Given the description of an element on the screen output the (x, y) to click on. 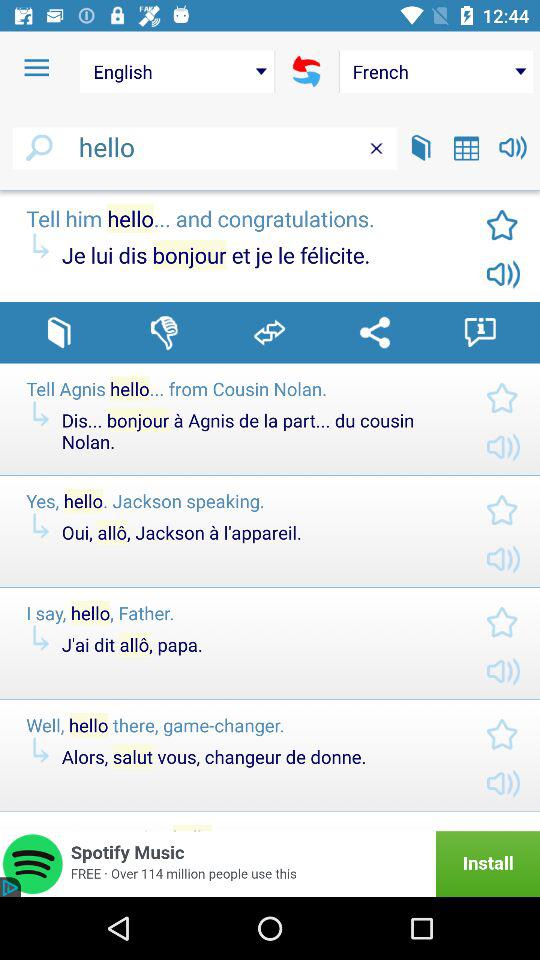
swap languages (269, 332)
